Given the description of an element on the screen output the (x, y) to click on. 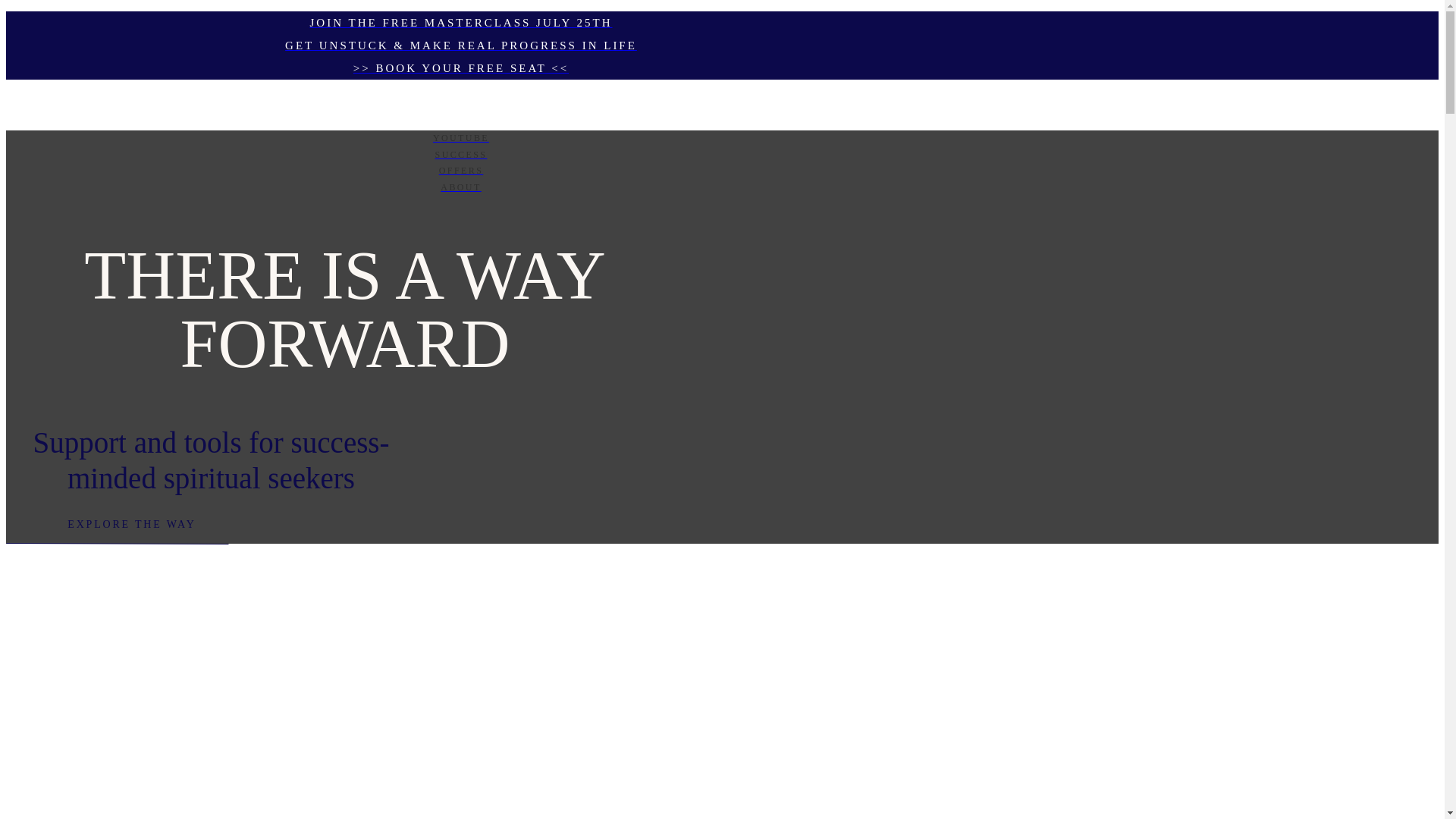
OFFERS (460, 170)
YOUTUBE (460, 138)
ABOUT (460, 187)
SUCCESS (460, 155)
